Given the description of an element on the screen output the (x, y) to click on. 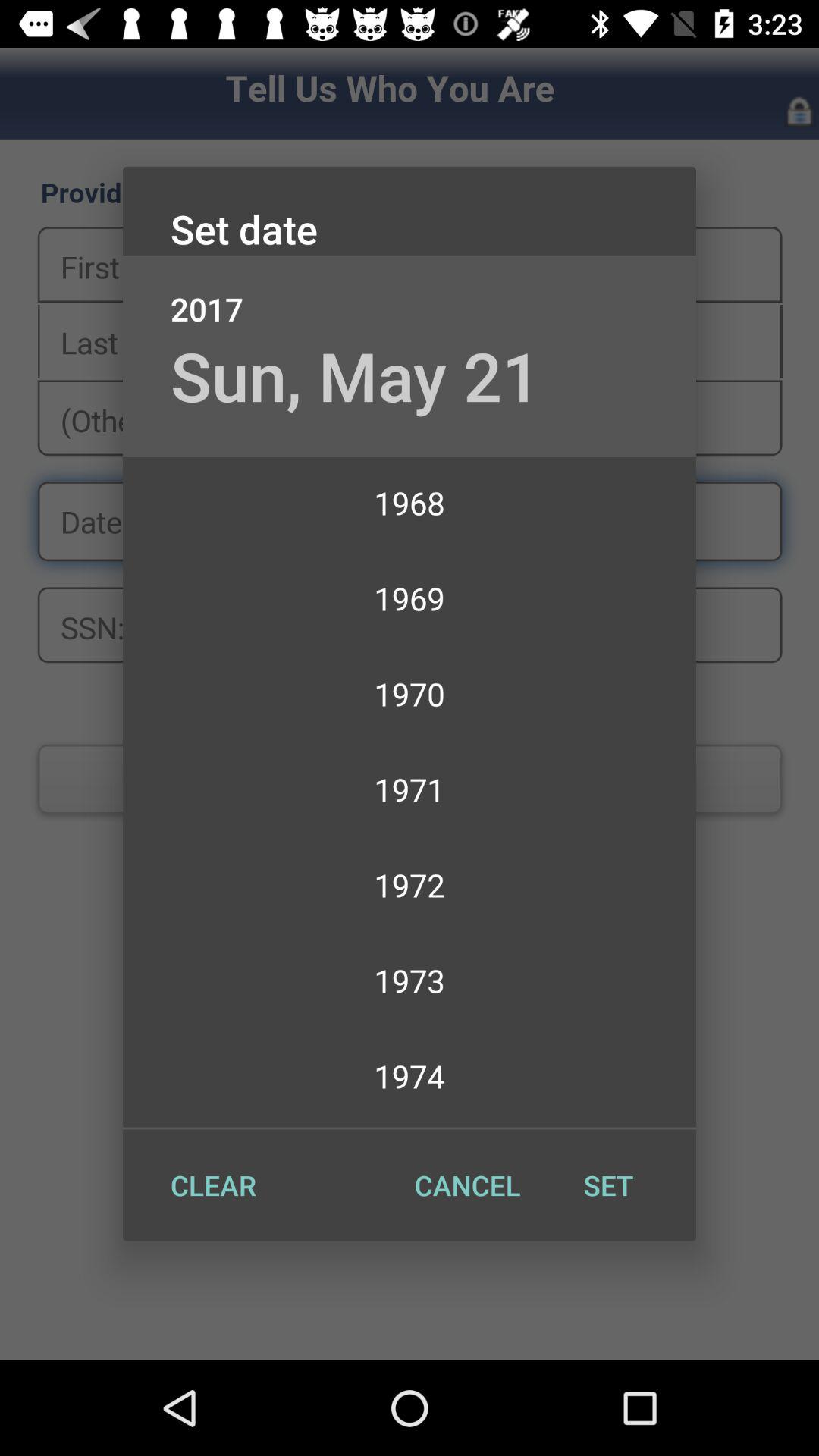
jump until cancel item (467, 1185)
